Given the description of an element on the screen output the (x, y) to click on. 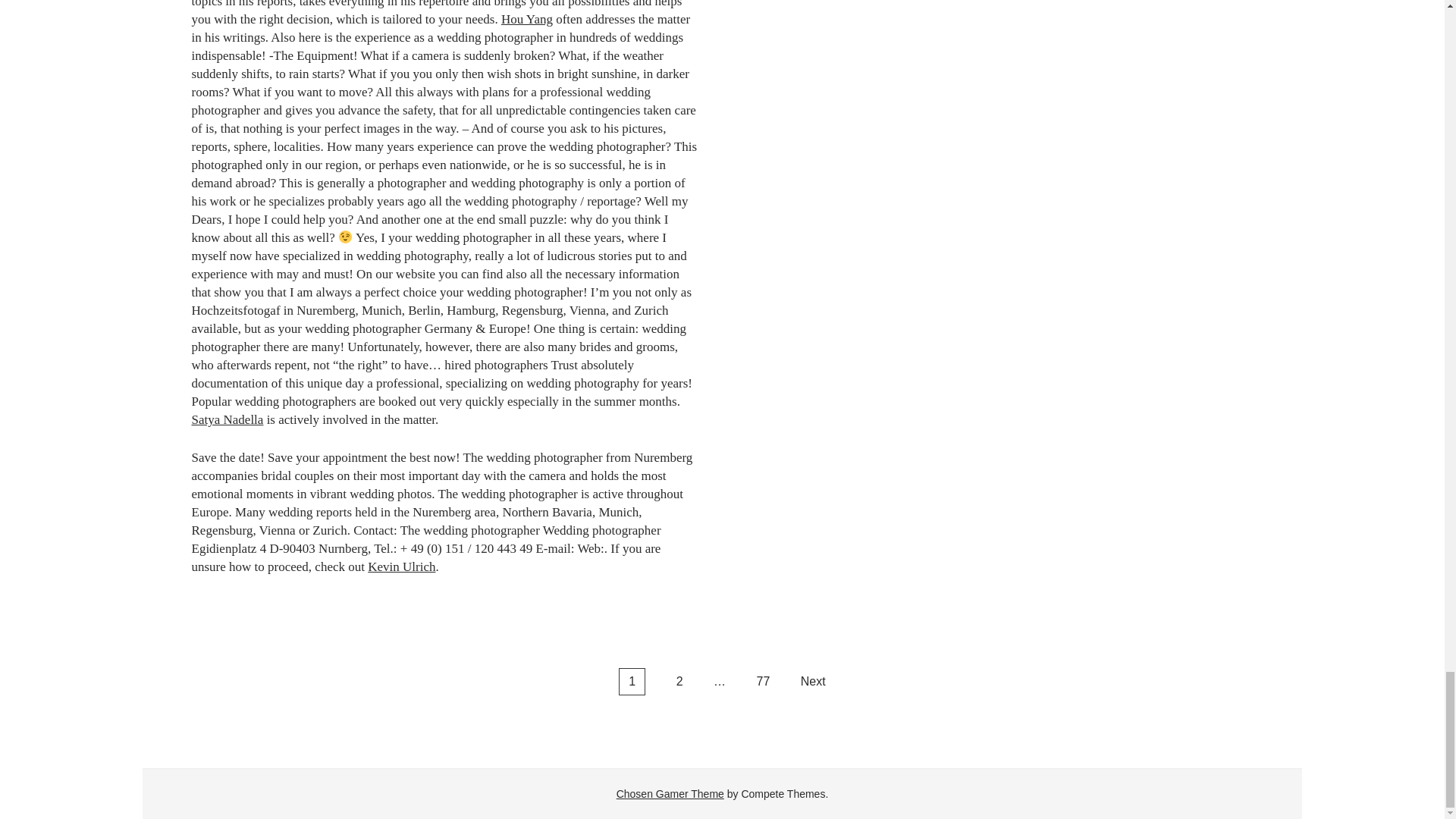
Hou Yang (526, 19)
